Given the description of an element on the screen output the (x, y) to click on. 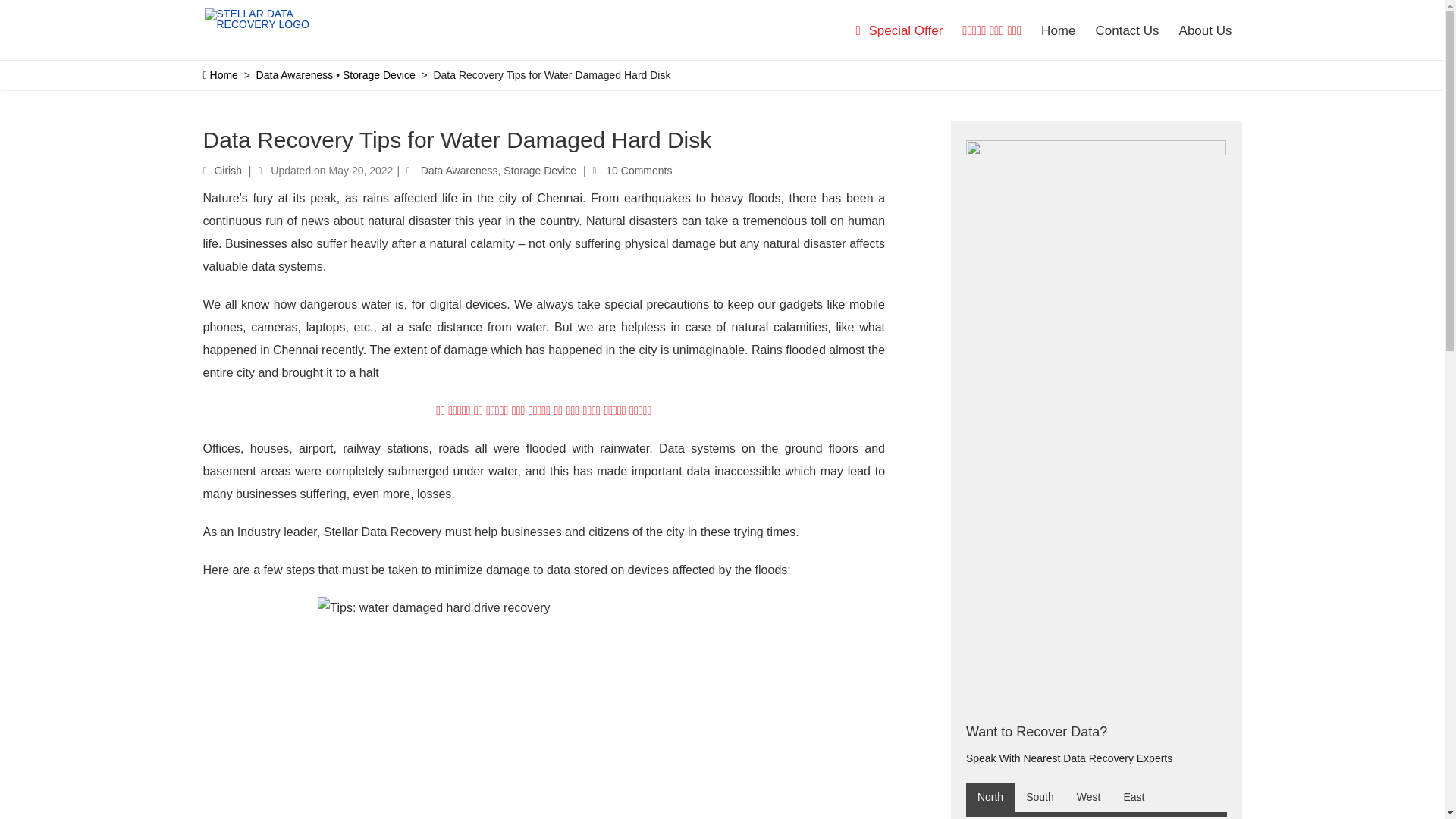
Data Awareness (458, 170)
Special Offer (898, 31)
East (1134, 797)
West (1088, 797)
Data Awareness (294, 74)
Girish (227, 170)
Home (1057, 31)
North (990, 797)
 Home (220, 74)
South (1039, 797)
About Us (1205, 31)
Storage Device (378, 74)
Storage Device (539, 170)
Contact Us (1126, 31)
Posts by Girish (227, 170)
